Given the description of an element on the screen output the (x, y) to click on. 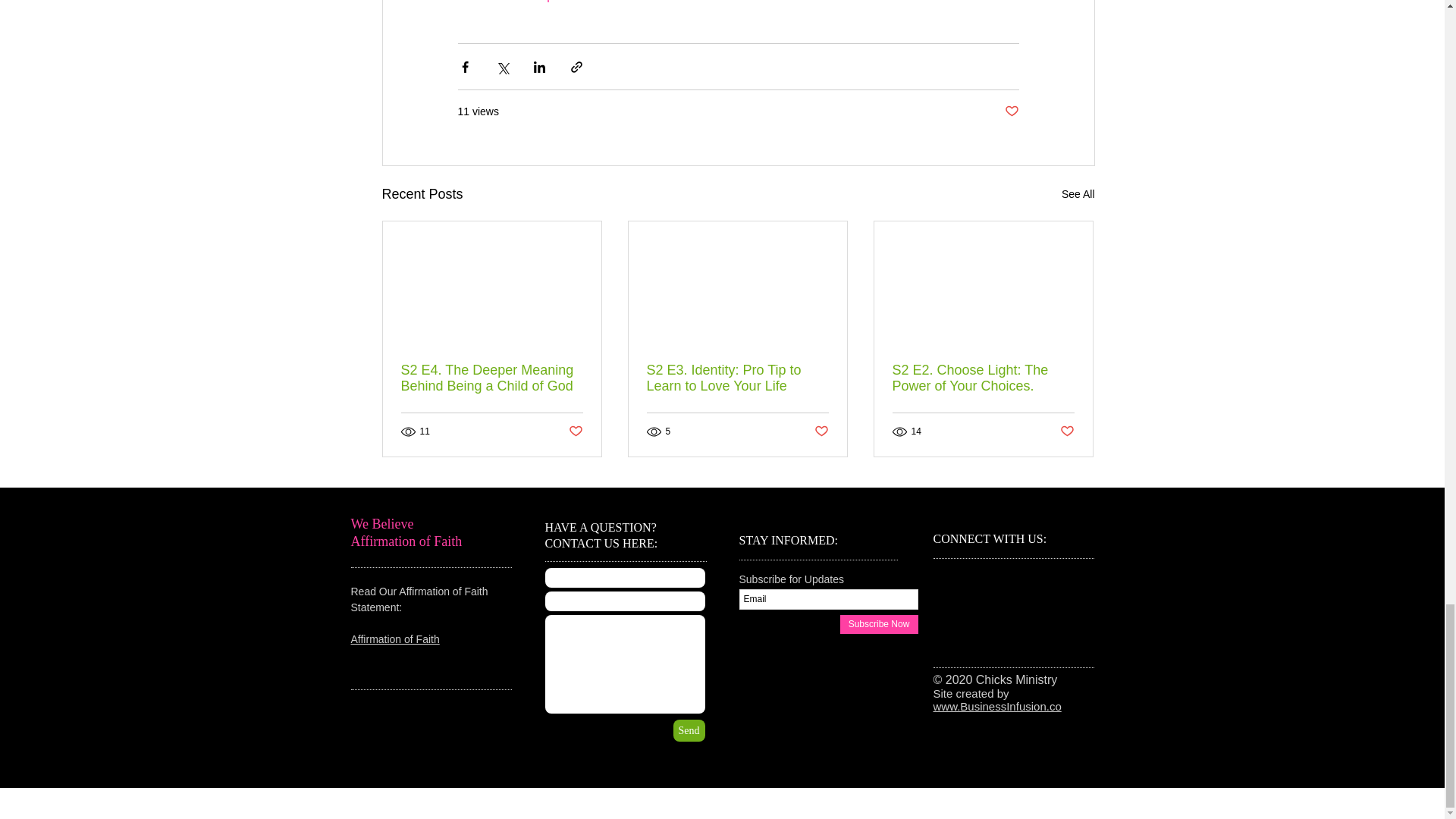
See All (1077, 194)
S2 E3. Identity: Pro Tip to Learn to Love Your Life (737, 377)
Post not marked as liked (1066, 430)
S2 E2. Choose Light: The Power of Your Choices. (982, 377)
Post not marked as liked (820, 430)
S2 E4. The Deeper Meaning Behind Being a Child of God (491, 377)
Post not marked as liked (576, 430)
Affirmation of Faith (394, 639)
www.BusinessInfusion.co (997, 706)
Post not marked as liked (1010, 111)
Send (688, 730)
